Given the description of an element on the screen output the (x, y) to click on. 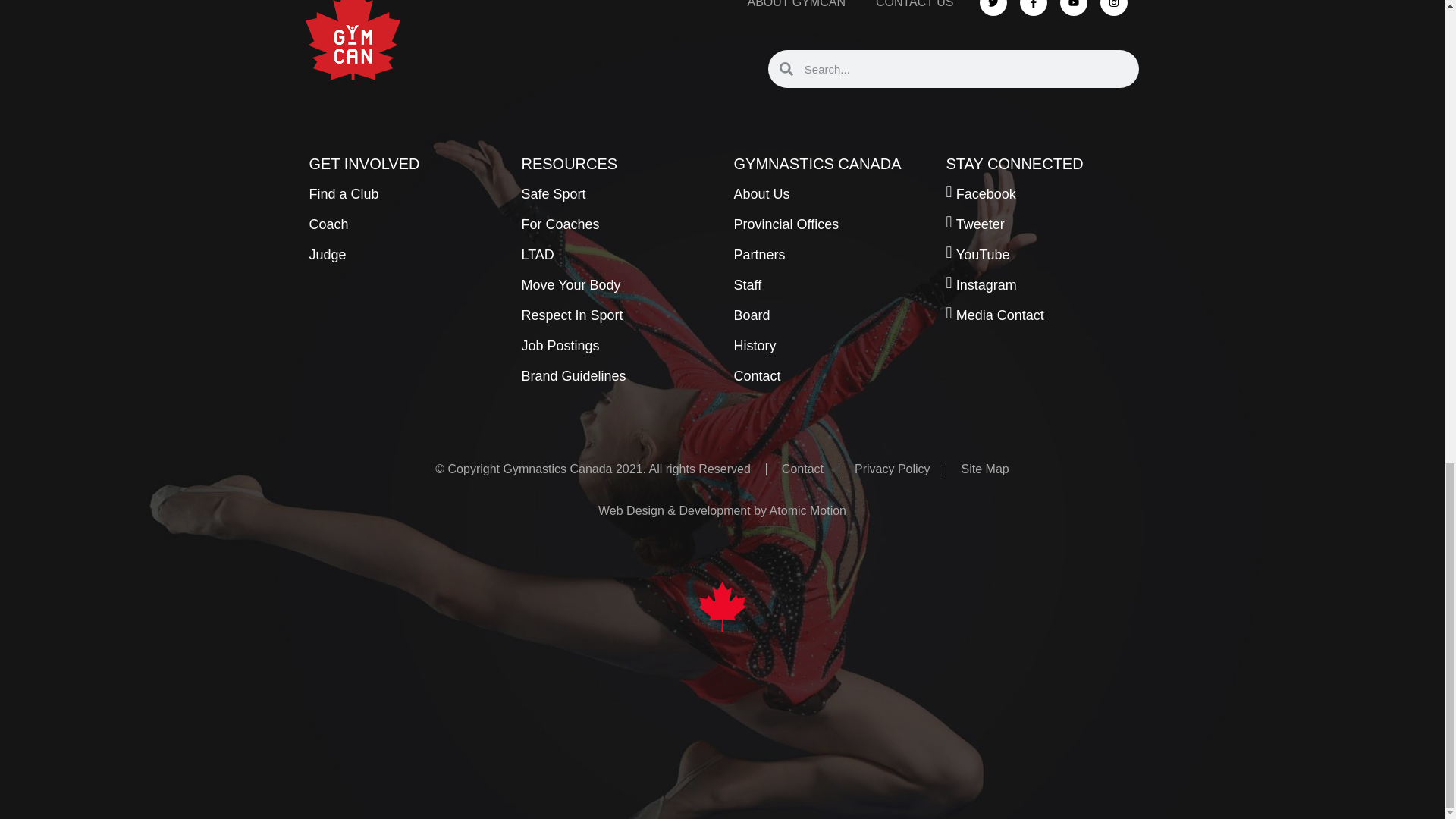
ABOUT GYMCAN (796, 9)
